Given the description of an element on the screen output the (x, y) to click on. 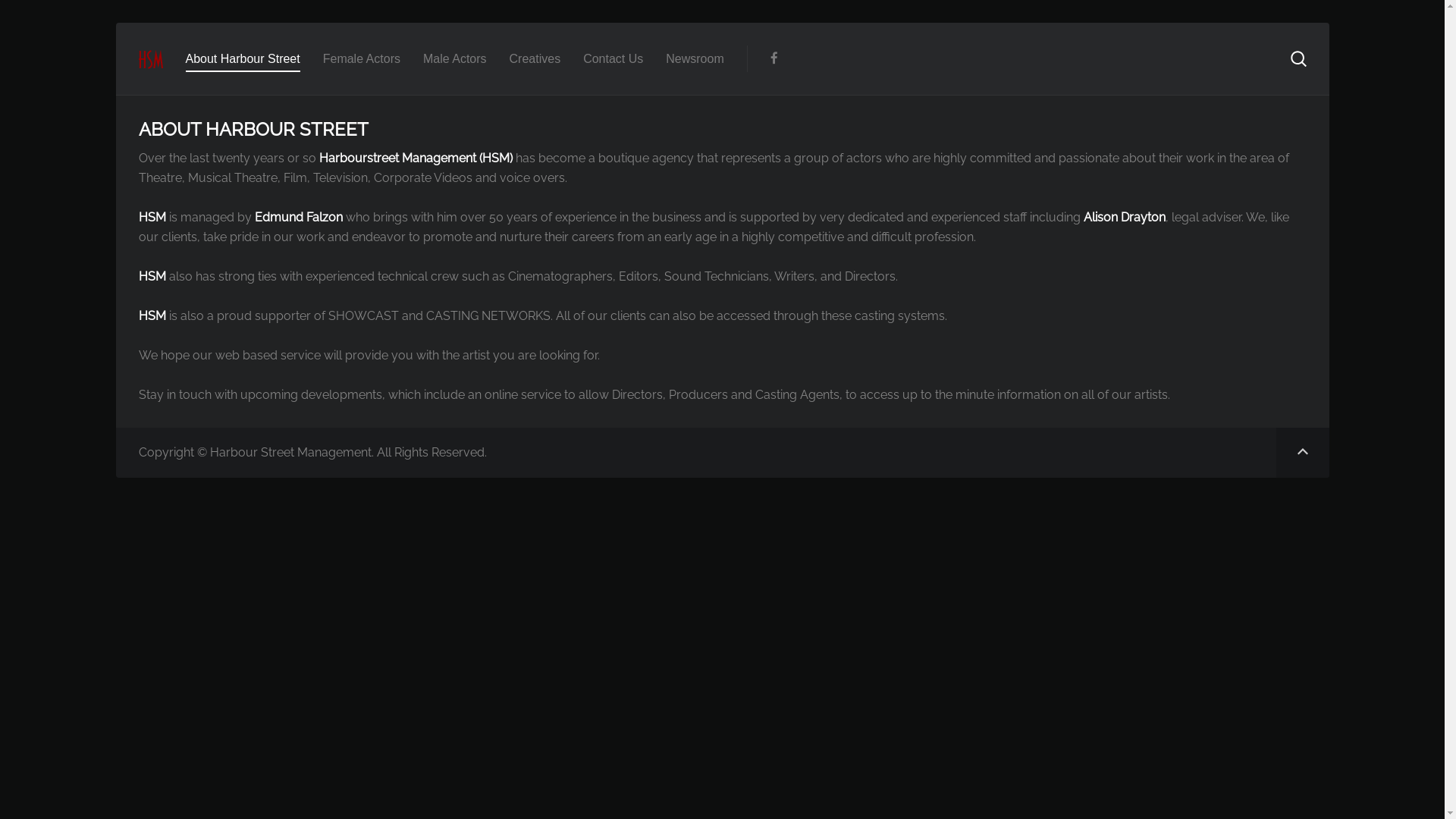
Newsroom Element type: text (694, 58)
Contact Us Element type: text (613, 58)
Female Actors Element type: text (361, 58)
About Harbour Street Element type: text (242, 58)
Creatives Element type: text (535, 58)
Harbourstreet on Facebook Element type: hover (774, 58)
Male Actors Element type: text (454, 58)
